Given the description of an element on the screen output the (x, y) to click on. 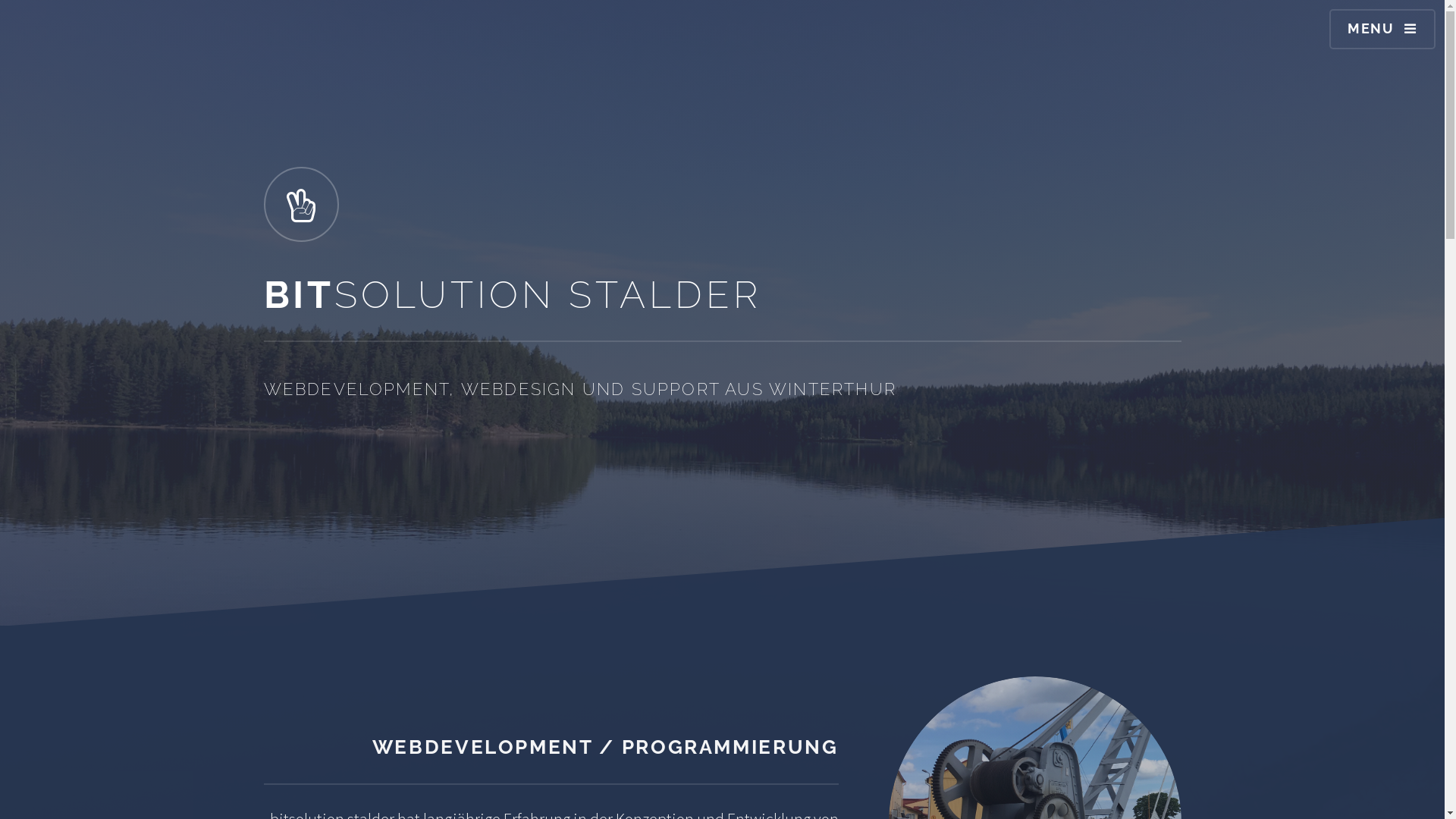
MENU Element type: text (1382, 29)
